Given the description of an element on the screen output the (x, y) to click on. 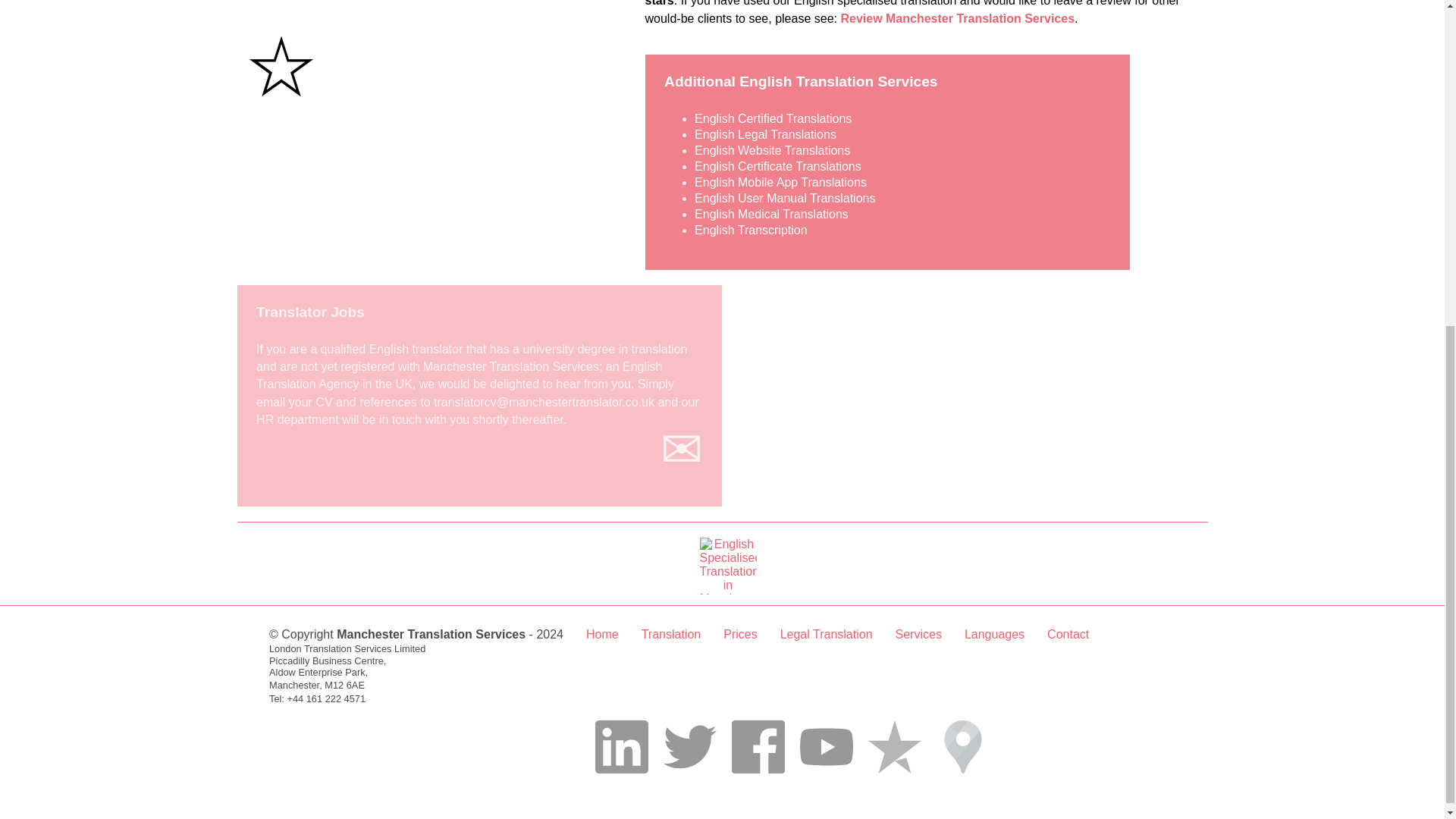
English Mobile App Translations (780, 182)
Review Manchester Translation Services (957, 17)
Review English Translation Agency UK (957, 17)
Prices (740, 634)
English Medical Translations (771, 214)
Translator Jobs (310, 311)
4.7 out of 5 stars (429, 58)
Translation (671, 634)
English Certificate Translations (777, 165)
Home (602, 634)
